Given the description of an element on the screen output the (x, y) to click on. 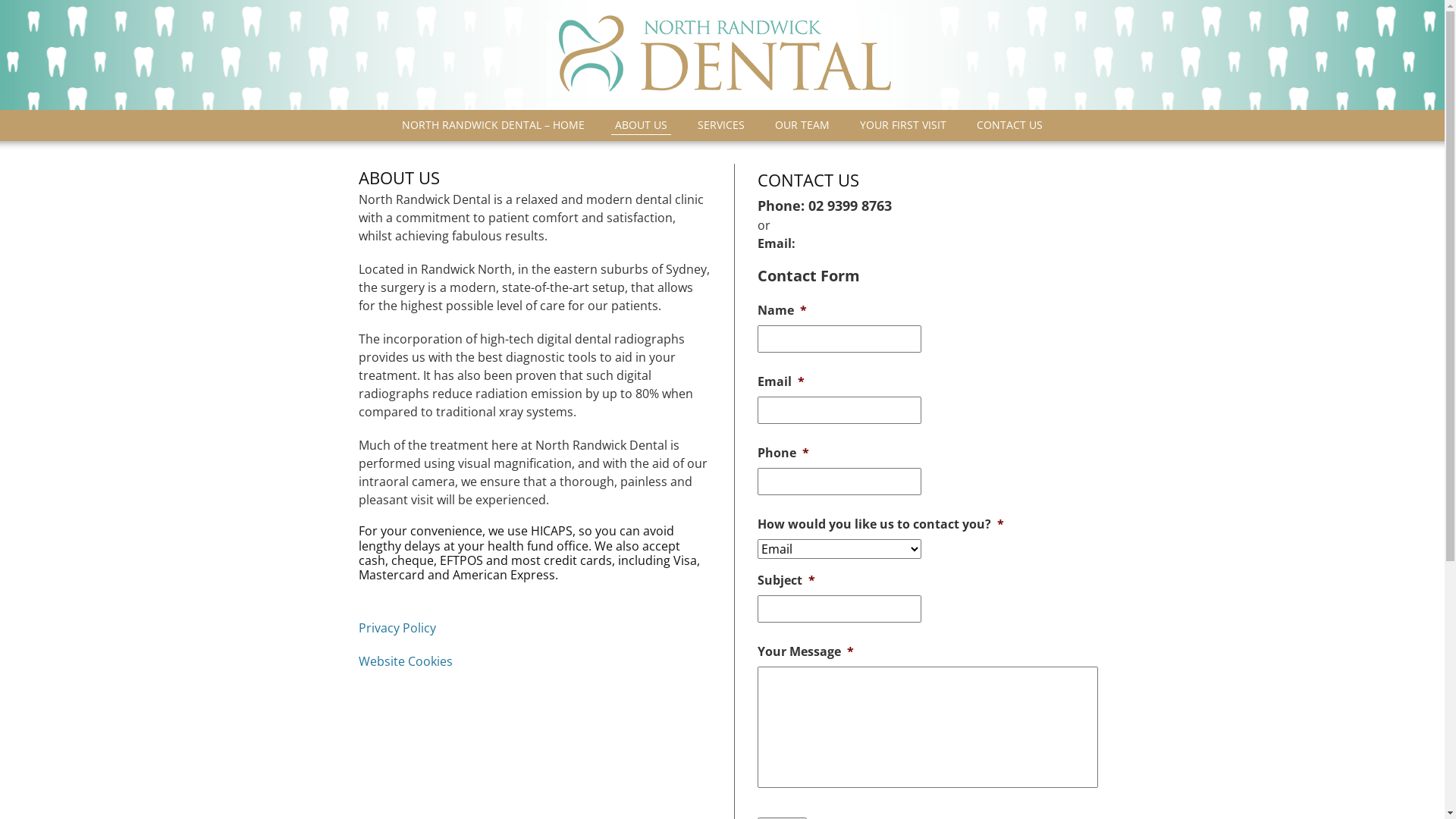
OUR TEAM Element type: text (802, 125)
North Randwick Dental Element type: text (721, 55)
Privacy Policy Element type: text (396, 627)
ABOUT US Element type: text (641, 125)
SERVICES Element type: text (720, 125)
CONTACT US Element type: text (1009, 125)
YOUR FIRST VISIT Element type: text (903, 125)
Website Cookies Element type: text (404, 660)
